Given the description of an element on the screen output the (x, y) to click on. 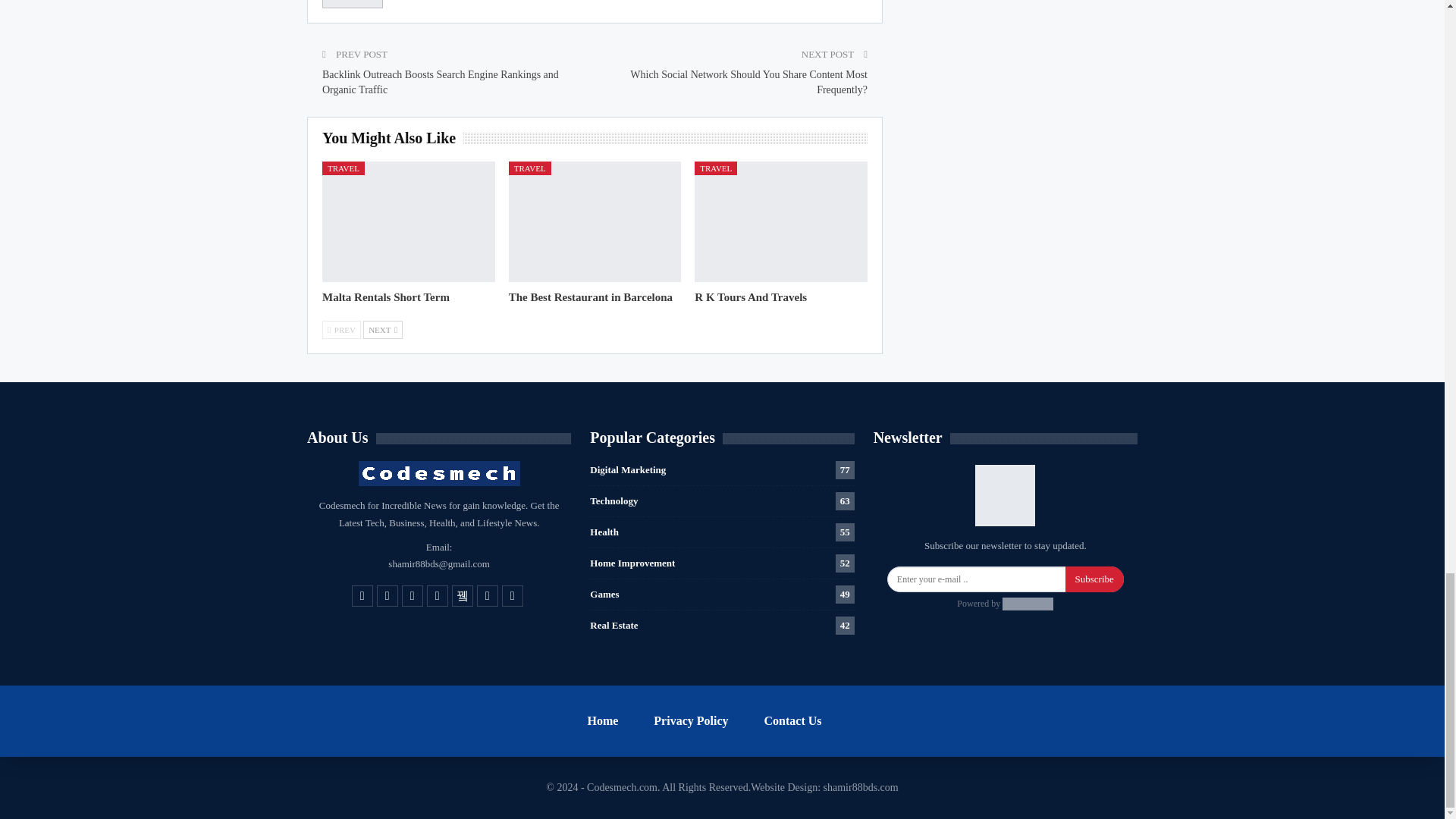
The Best Restaurant in Barcelona (594, 221)
The Best Restaurant in Barcelona (590, 297)
Malta Rentals Short Term (408, 221)
R K Tours And Travels (780, 221)
Previous (341, 330)
Malta Rentals Short Term (385, 297)
Next (382, 330)
R K Tours And Travels (750, 297)
